Given the description of an element on the screen output the (x, y) to click on. 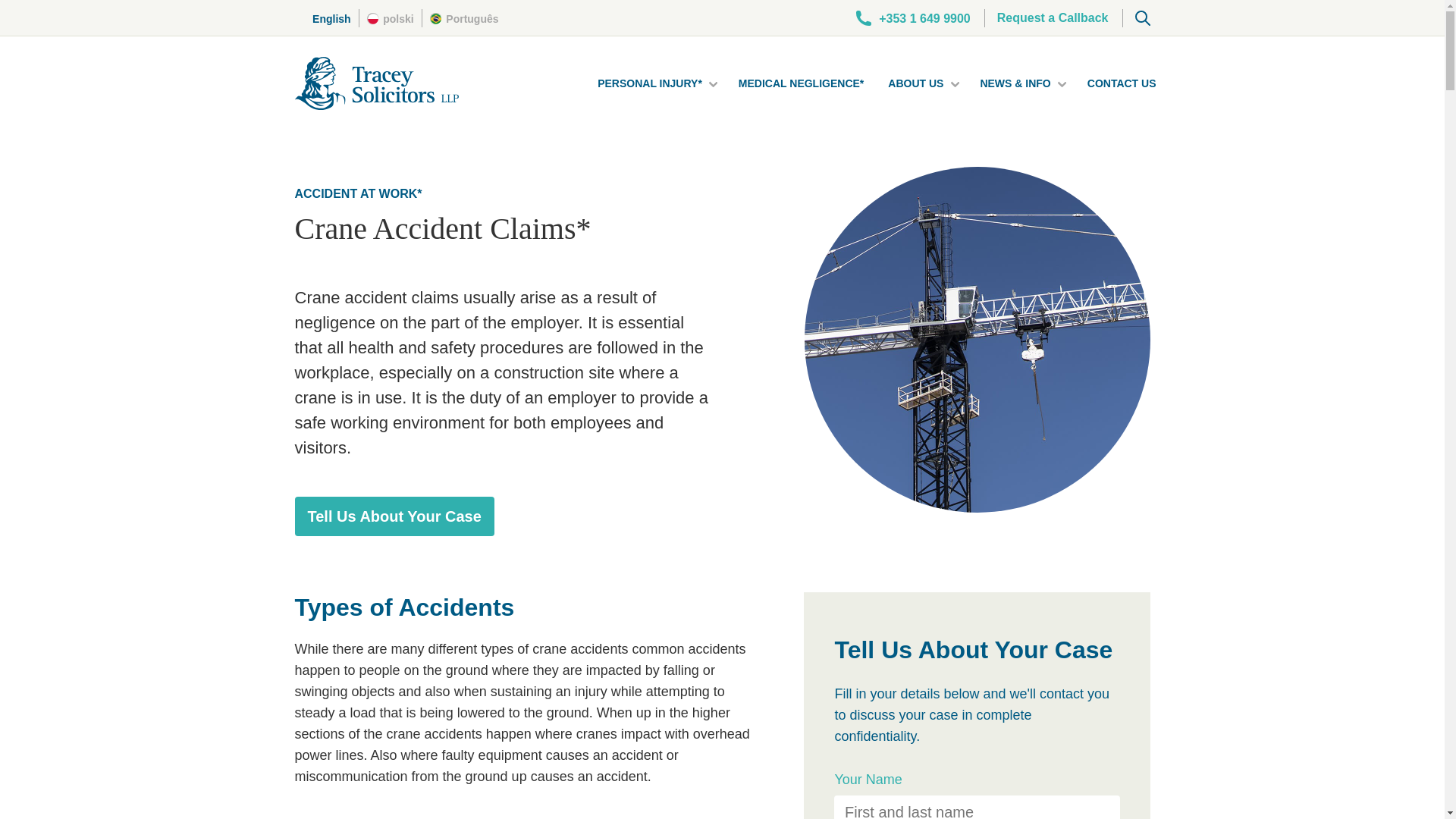
Request a Callback (1052, 18)
ABOUT US (915, 83)
polski (390, 19)
English (328, 18)
Tell Us About Your Case (393, 516)
Send (722, 644)
CONTACT US (1121, 83)
